Given the description of an element on the screen output the (x, y) to click on. 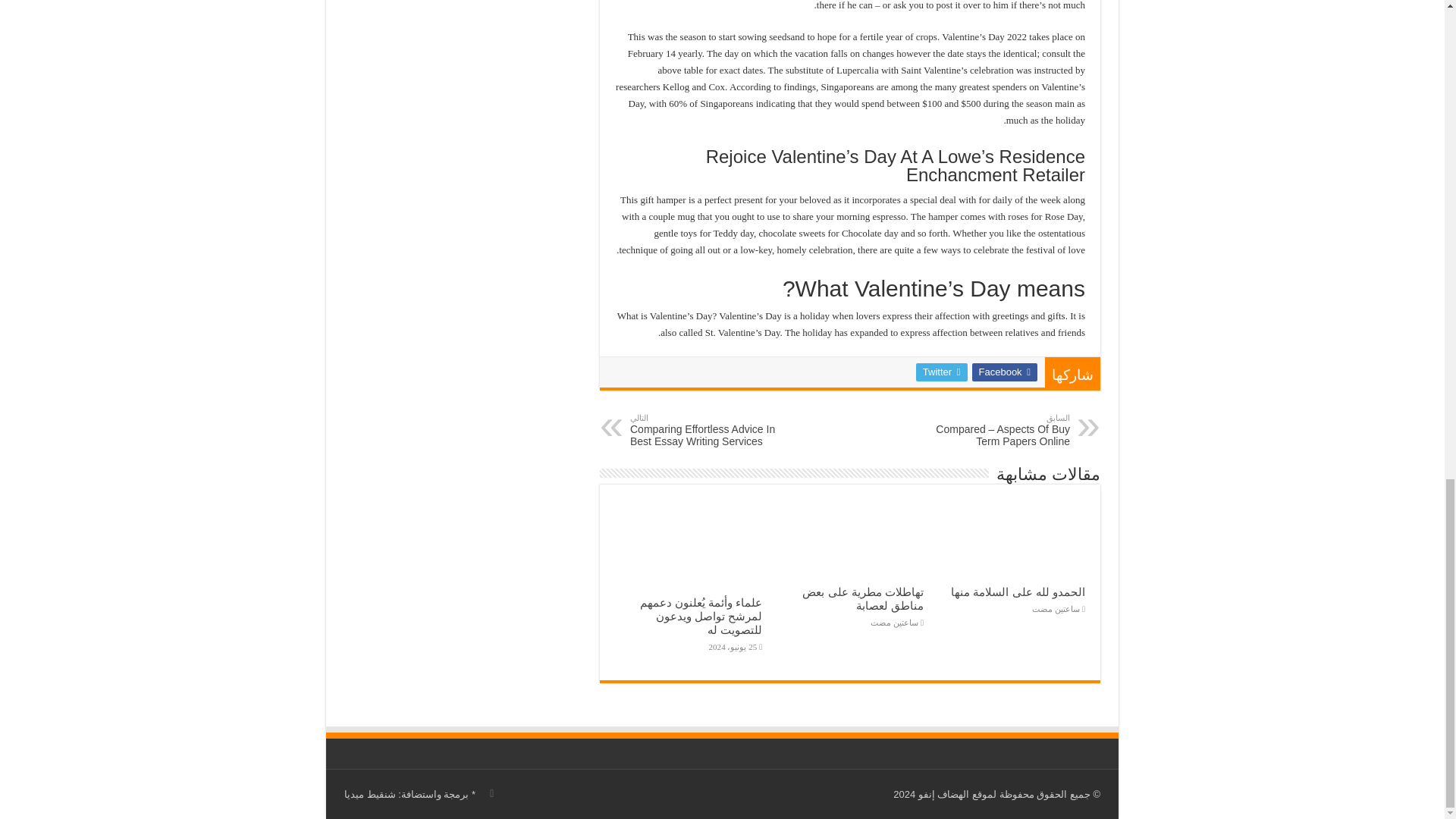
Facebook (1004, 372)
Rss (491, 793)
Twitter (941, 372)
